Given the description of an element on the screen output the (x, y) to click on. 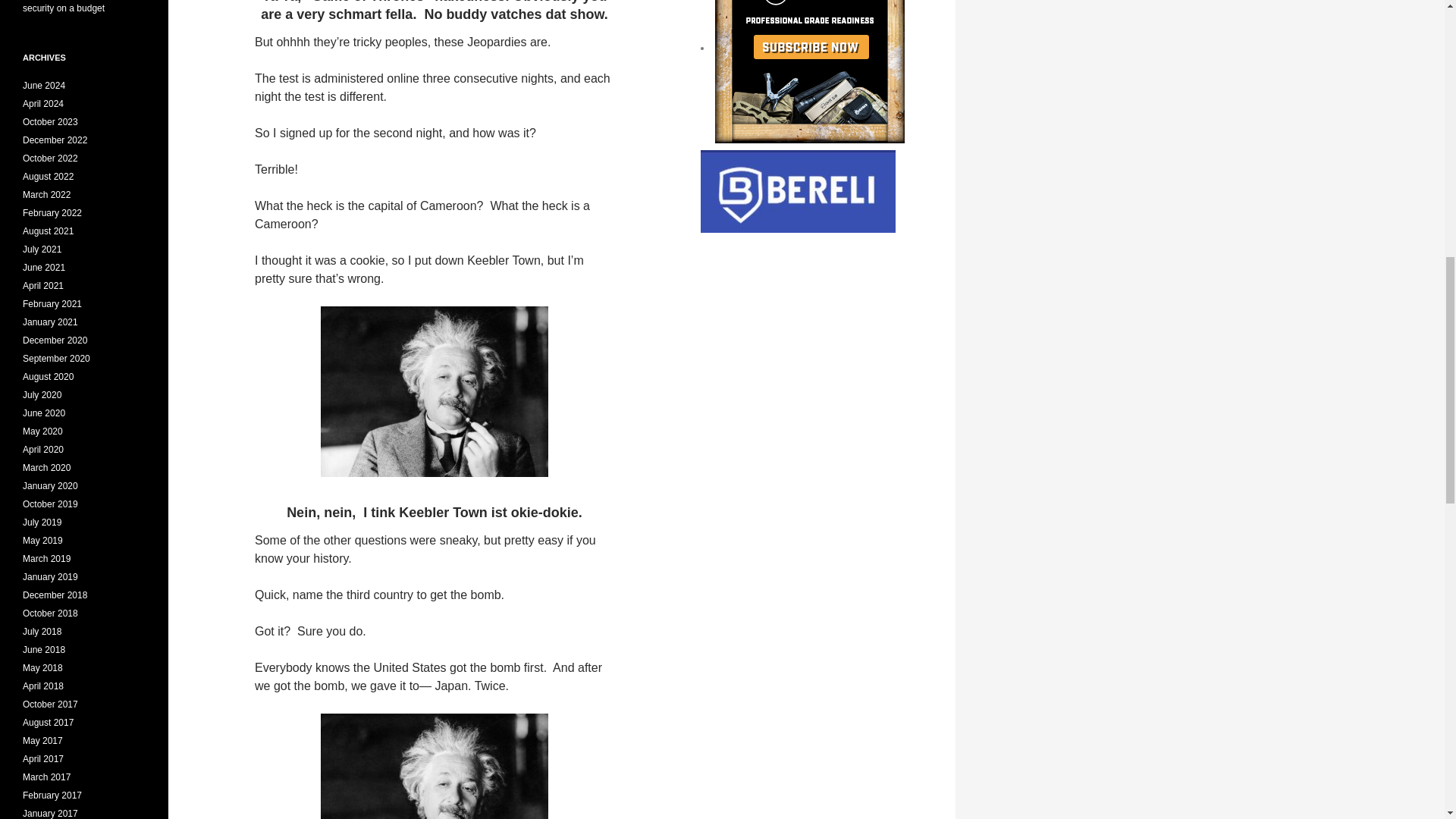
April 2024 (43, 103)
October 2023 (50, 122)
August 2022 (48, 176)
June 2024 (44, 85)
Start your physical security on a budget (77, 6)
October 2022 (50, 158)
December 2022 (55, 140)
